Given the description of an element on the screen output the (x, y) to click on. 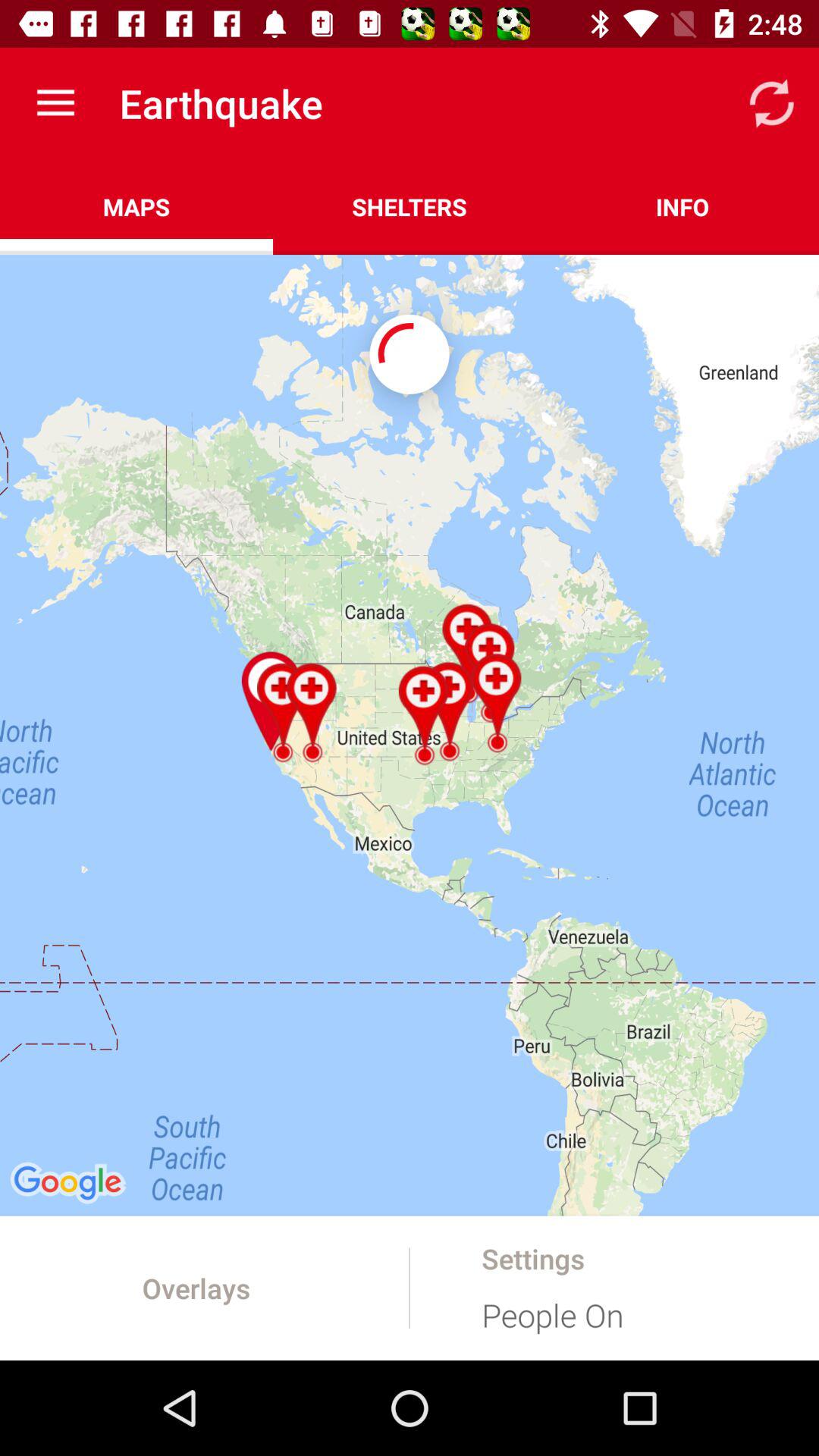
launch app above info item (771, 103)
